Given the description of an element on the screen output the (x, y) to click on. 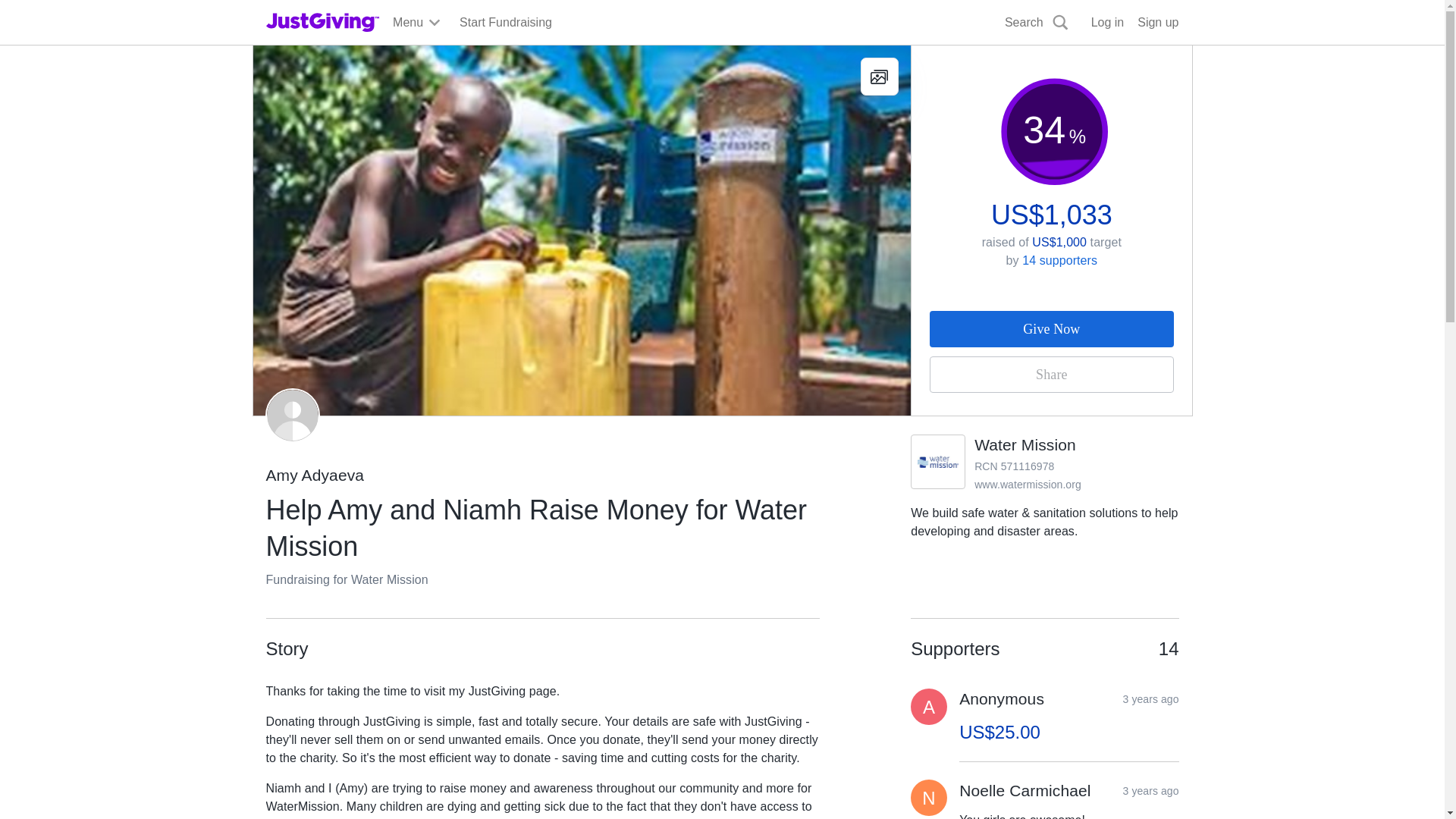
14 supporters (1059, 259)
Search (919, 57)
Log in (1107, 22)
Search (1036, 22)
N (929, 797)
Share (1051, 374)
Menu (416, 22)
www.watermission.org (1027, 484)
Sign up (1157, 22)
Give Now (1051, 329)
